Given the description of an element on the screen output the (x, y) to click on. 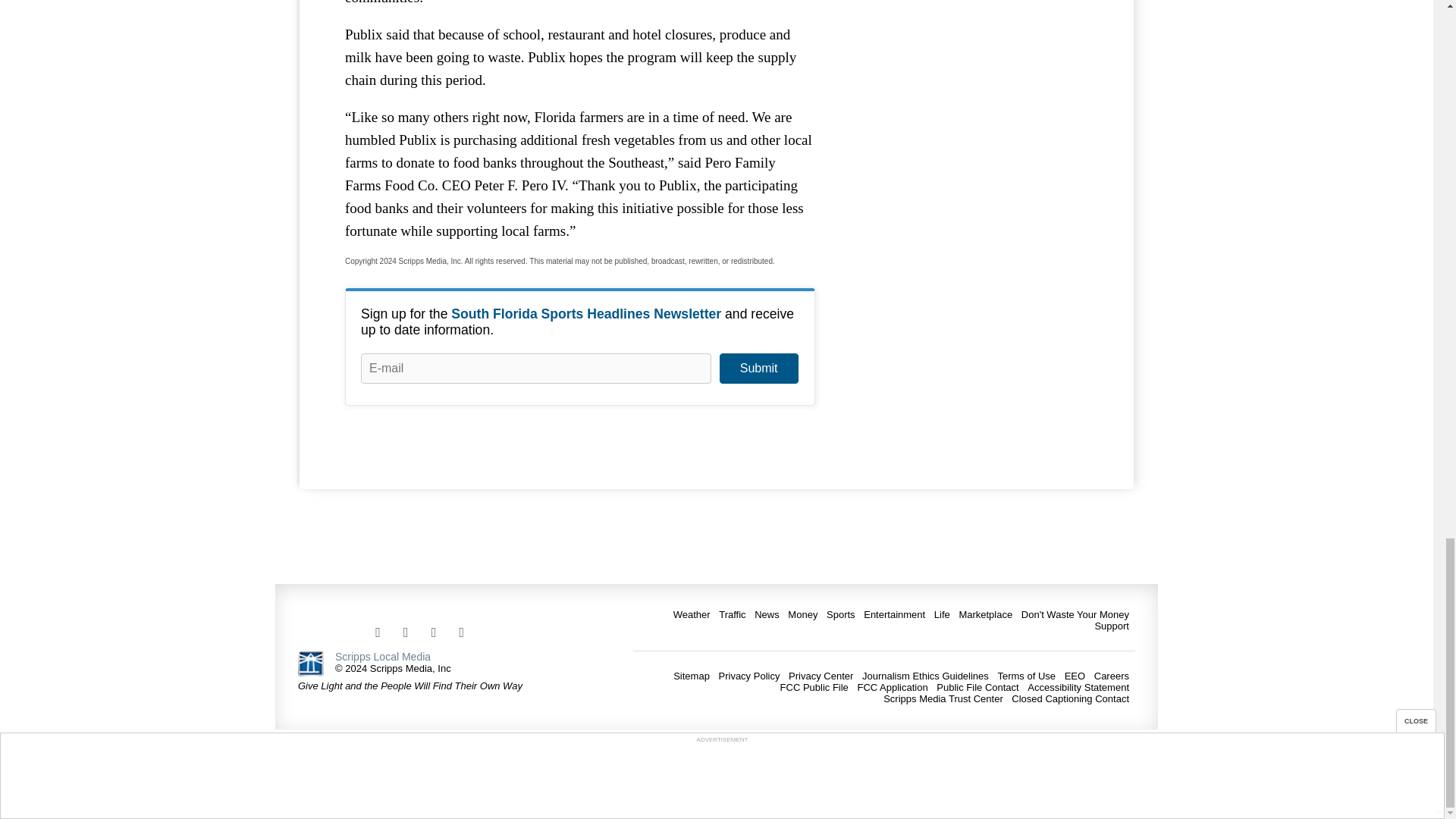
Submit (758, 368)
